Given the description of an element on the screen output the (x, y) to click on. 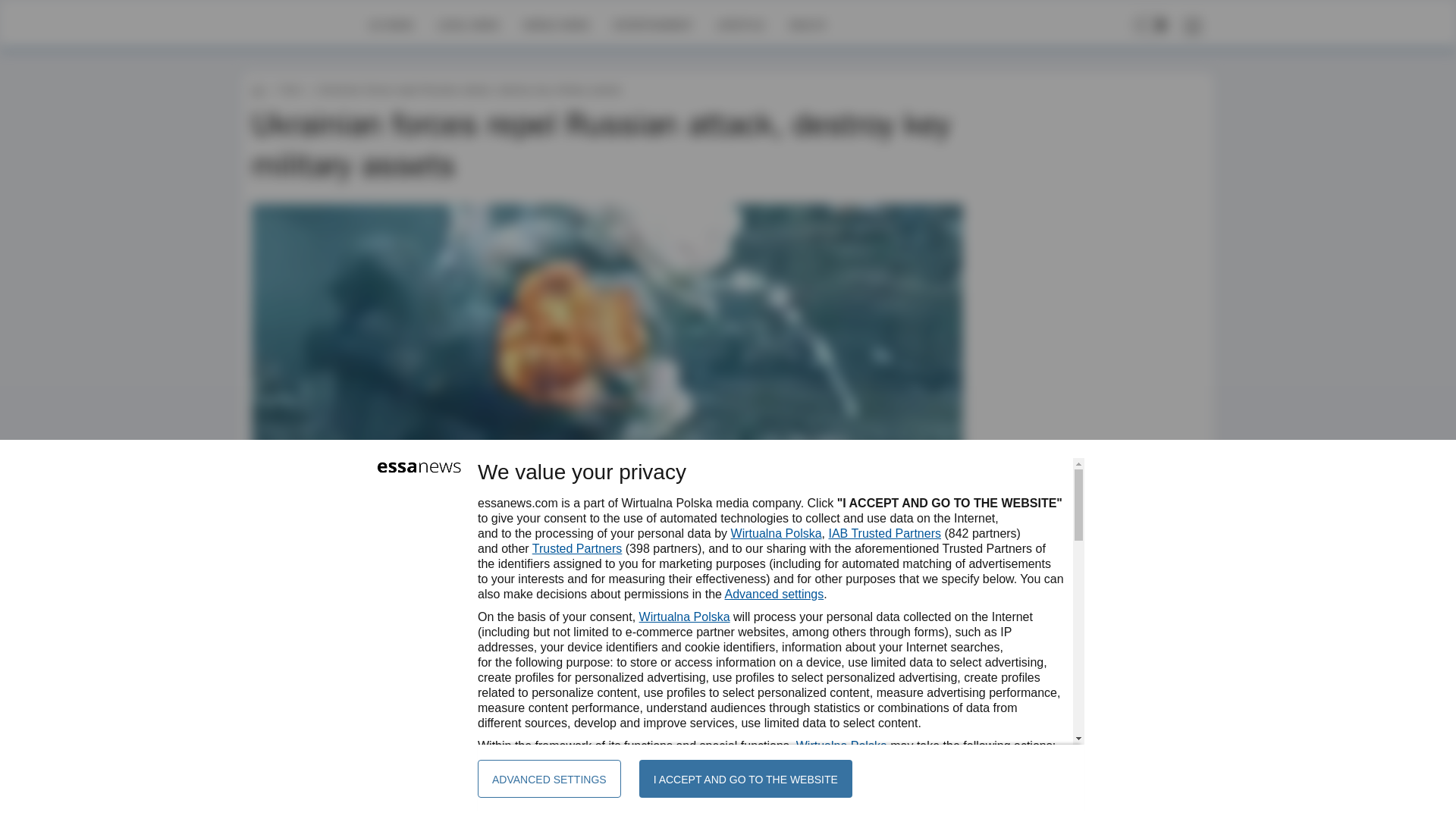
SHARE (936, 649)
MT (296, 641)
essanews.com (257, 89)
ENTERTAINMENT (652, 24)
HEALTH (807, 24)
WORLD NEWS (555, 24)
LIFESTYLE (740, 24)
US NEWS (390, 24)
MT (296, 641)
LOCAL NEWS (468, 24)
Tech (290, 89)
Tech (290, 89)
Homepage (305, 24)
